Given the description of an element on the screen output the (x, y) to click on. 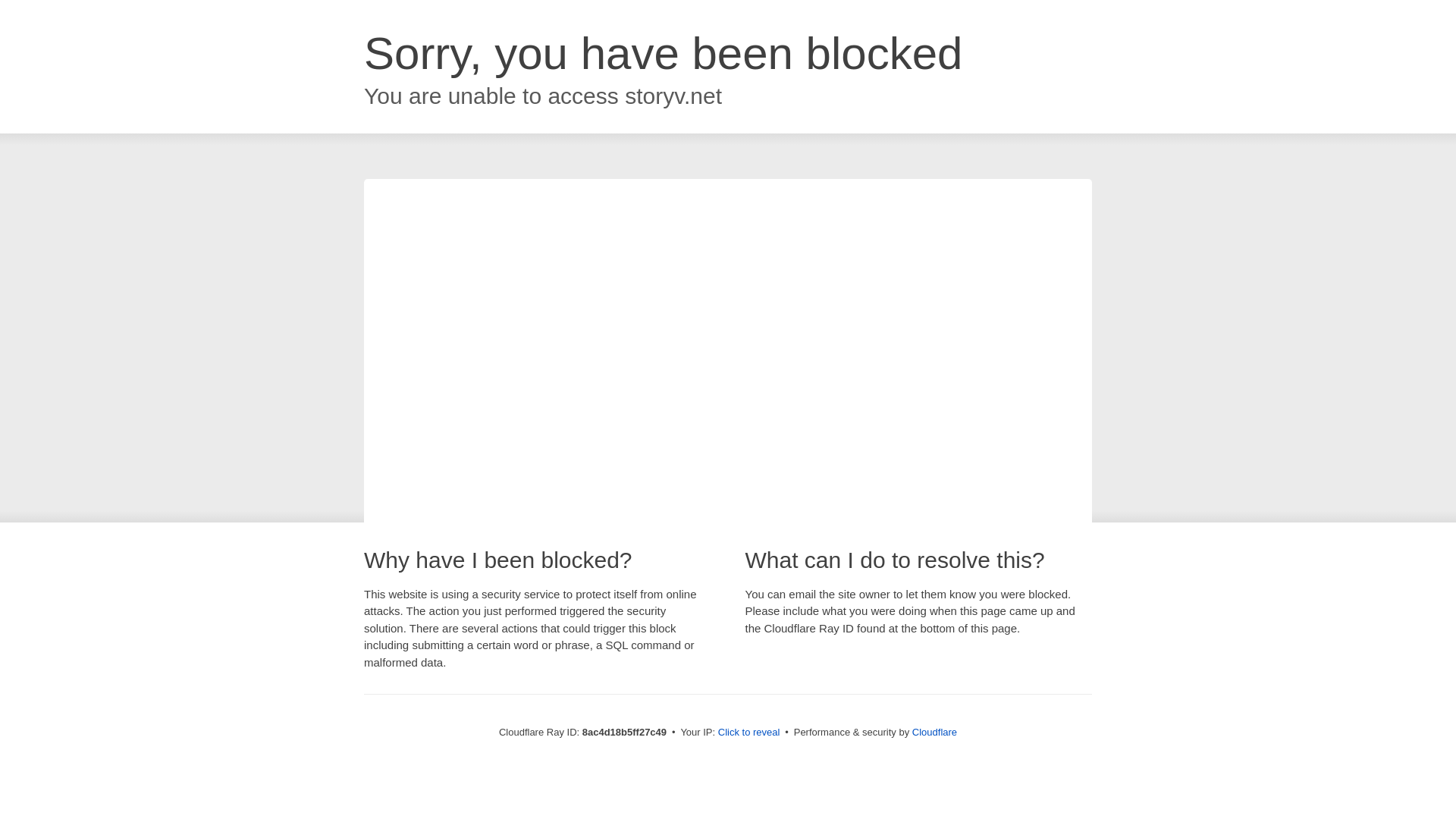
Click to reveal (748, 732)
Cloudflare (934, 731)
